Given the description of an element on the screen output the (x, y) to click on. 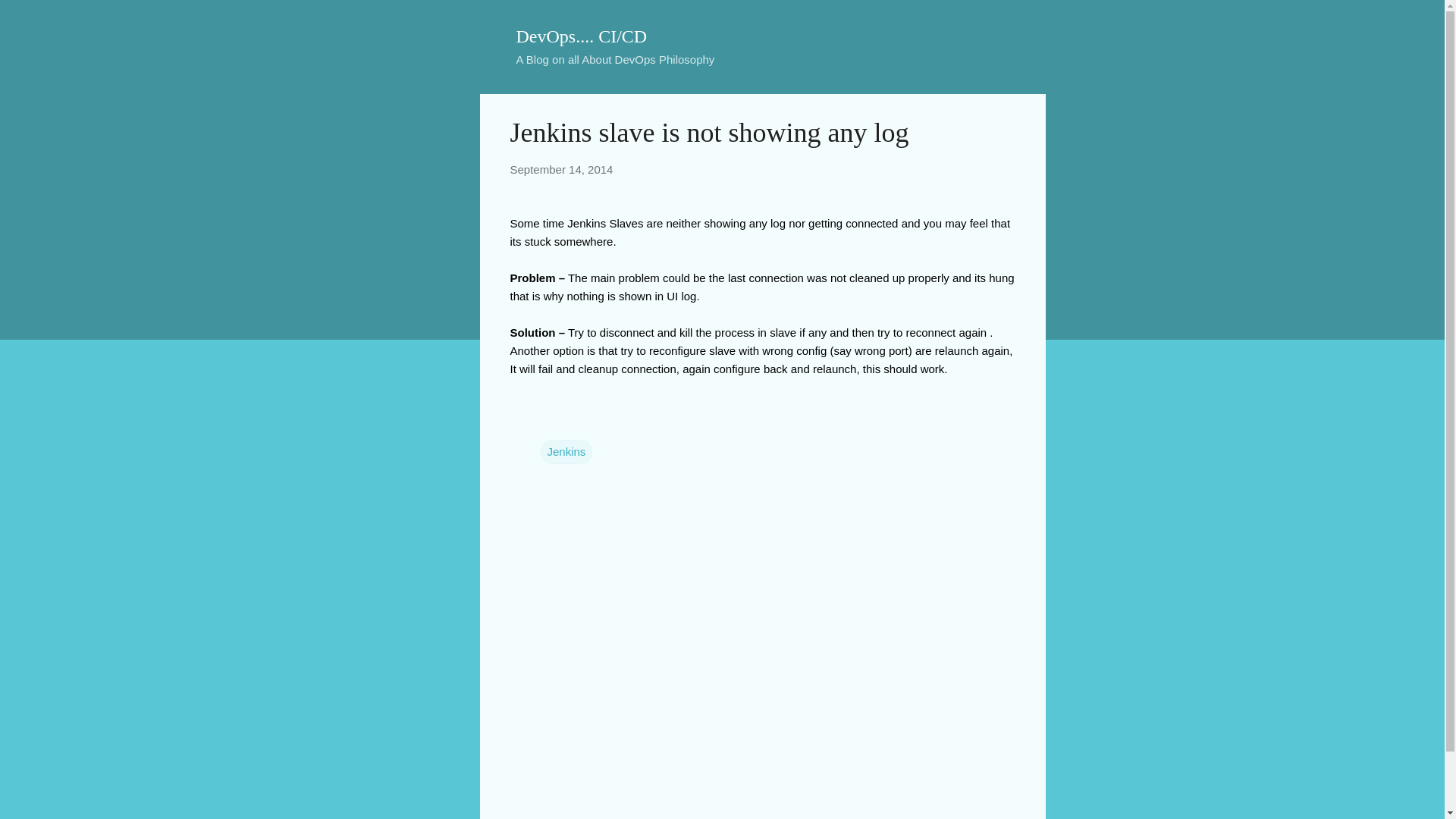
Email Post (548, 420)
Jenkins (566, 451)
Search (29, 18)
September 14, 2014 (560, 169)
permanent link (560, 169)
